Given the description of an element on the screen output the (x, y) to click on. 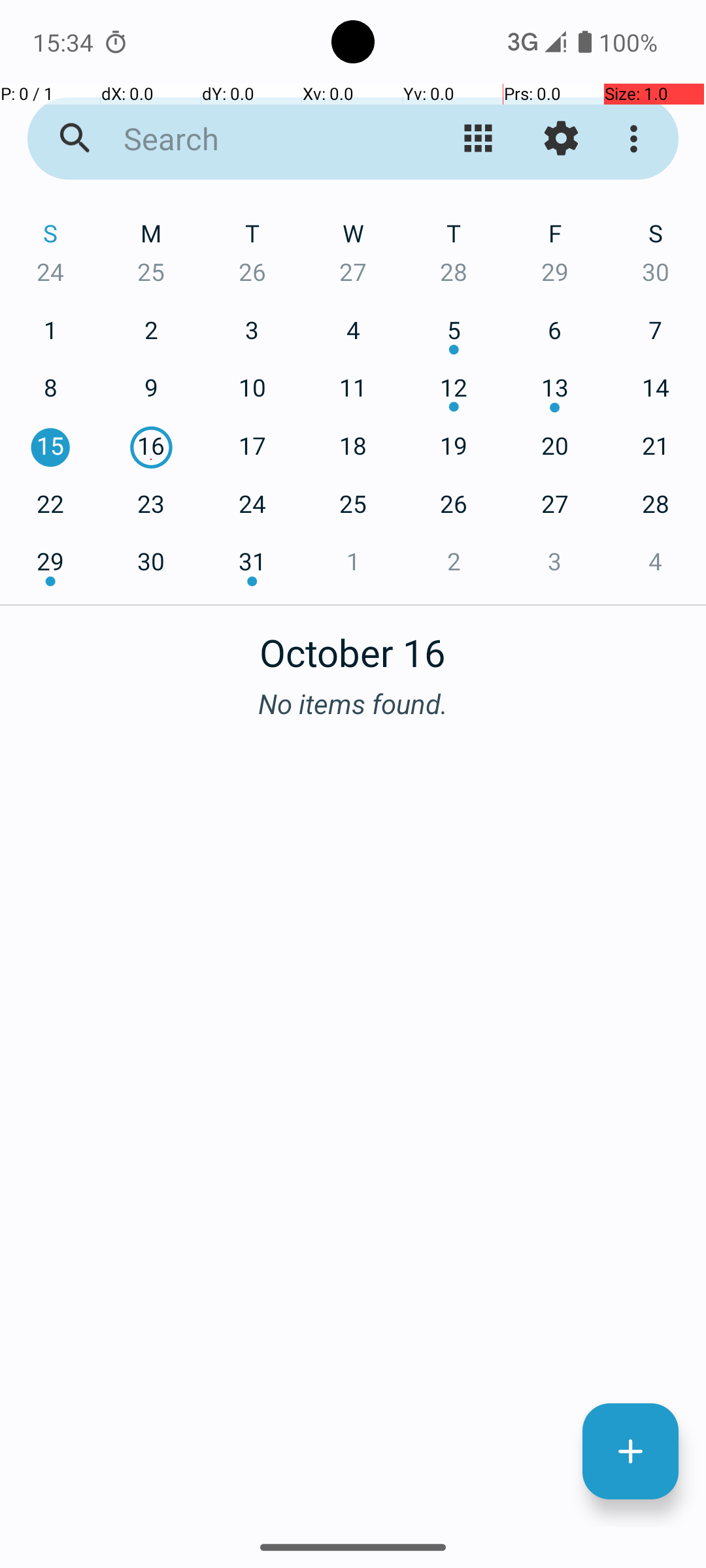
October 16 Element type: android.widget.TextView (352, 644)
